Given the description of an element on the screen output the (x, y) to click on. 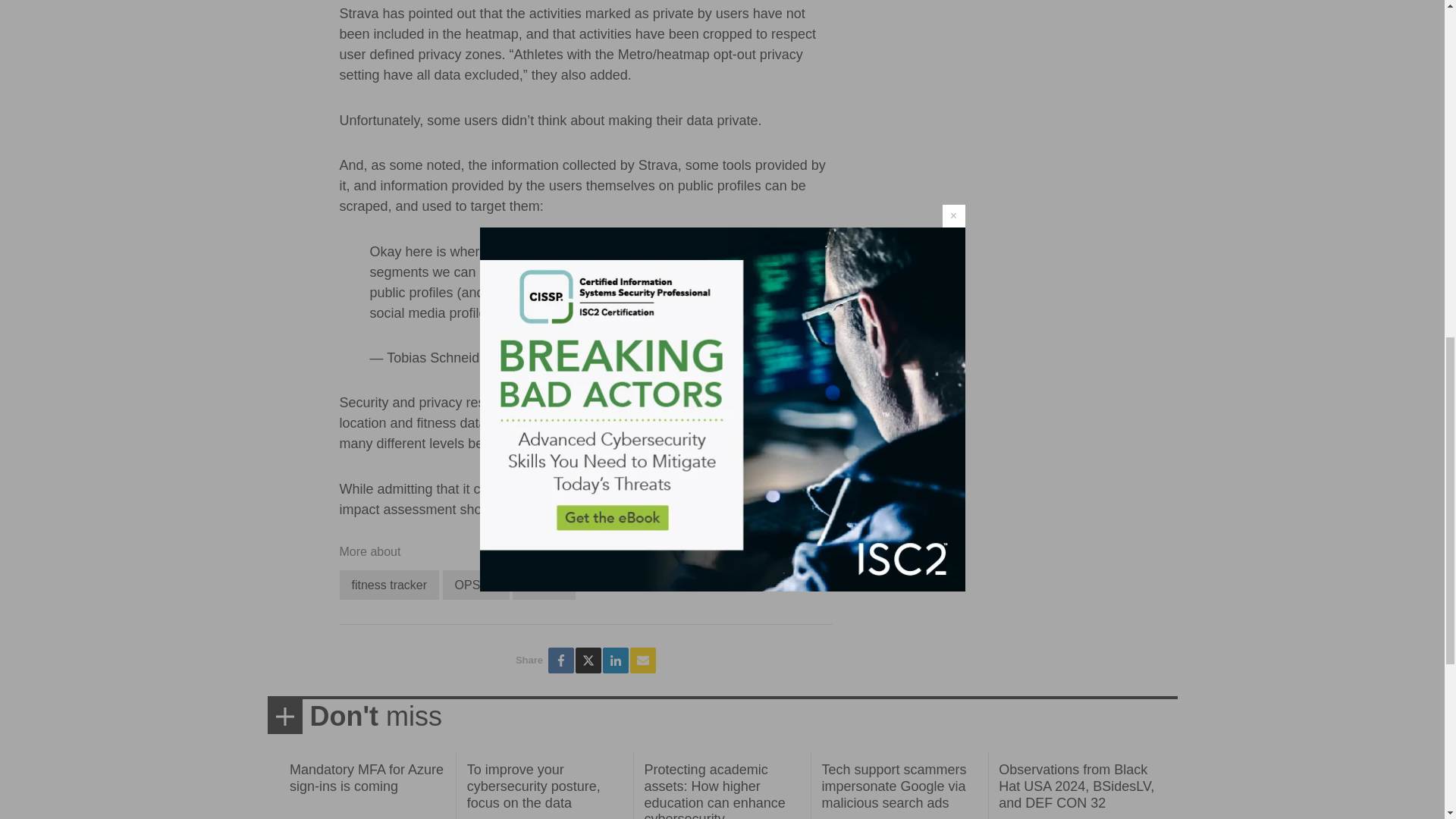
fitness tracker (389, 584)
privacy (543, 584)
fitness tracker (389, 584)
pointed out (661, 402)
privacy (543, 584)
OPSEC (475, 584)
OPSEC (475, 584)
